Given the description of an element on the screen output the (x, y) to click on. 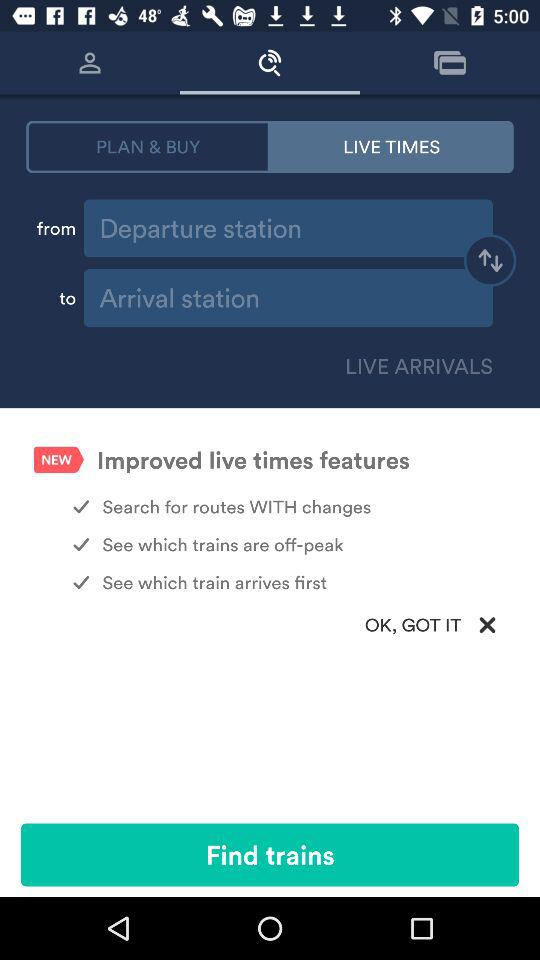
invert (489, 263)
